Given the description of an element on the screen output the (x, y) to click on. 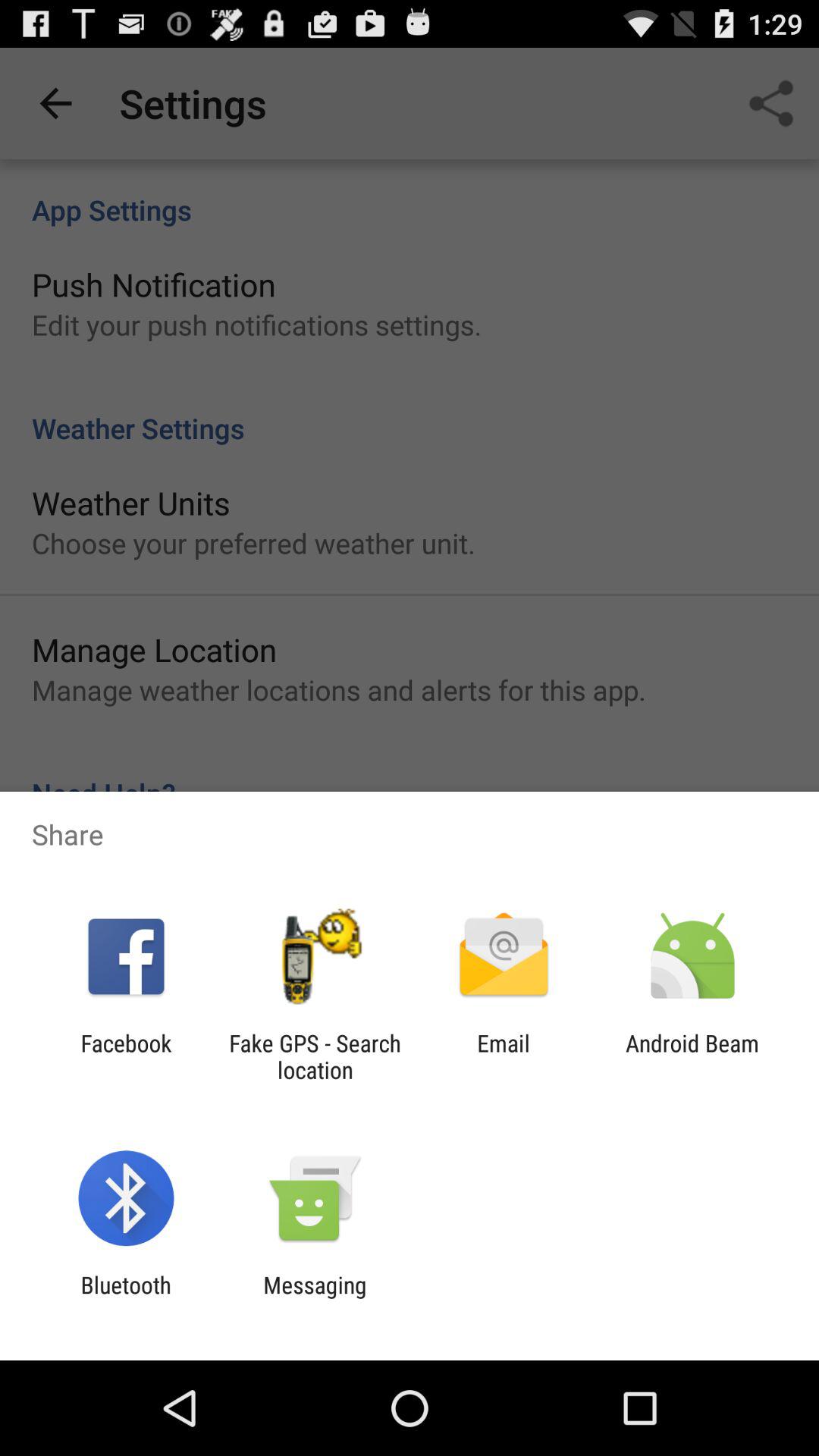
swipe to the fake gps search (314, 1056)
